Given the description of an element on the screen output the (x, y) to click on. 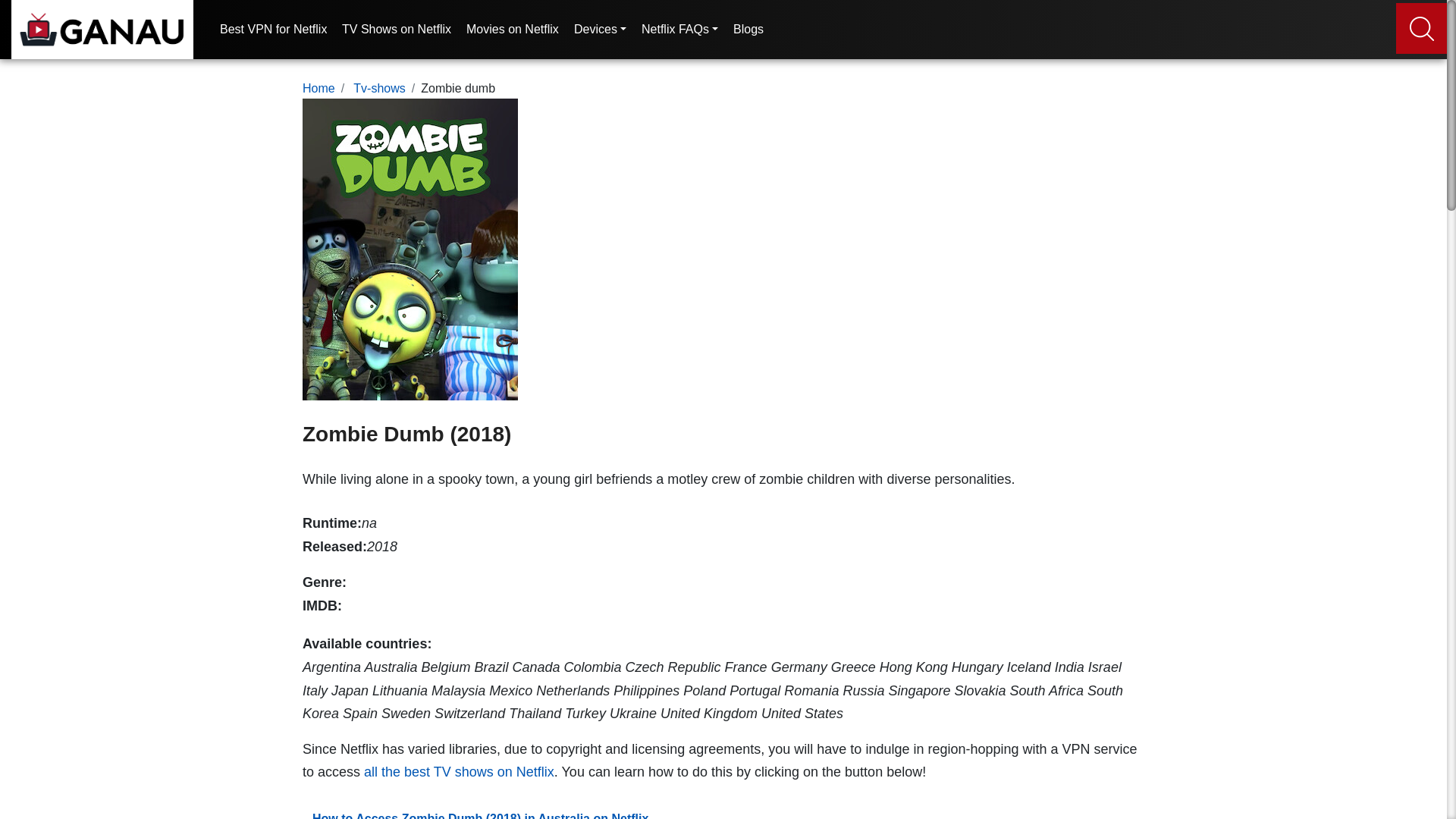
Netflix FAQs (679, 36)
Best VPN for Netflix (272, 36)
all the best TV shows on Netflix (459, 771)
Home (318, 88)
Tv-shows (378, 88)
Movies on Netflix (512, 36)
TV Shows on Netflix (396, 36)
Devices (599, 36)
